Given the description of an element on the screen output the (x, y) to click on. 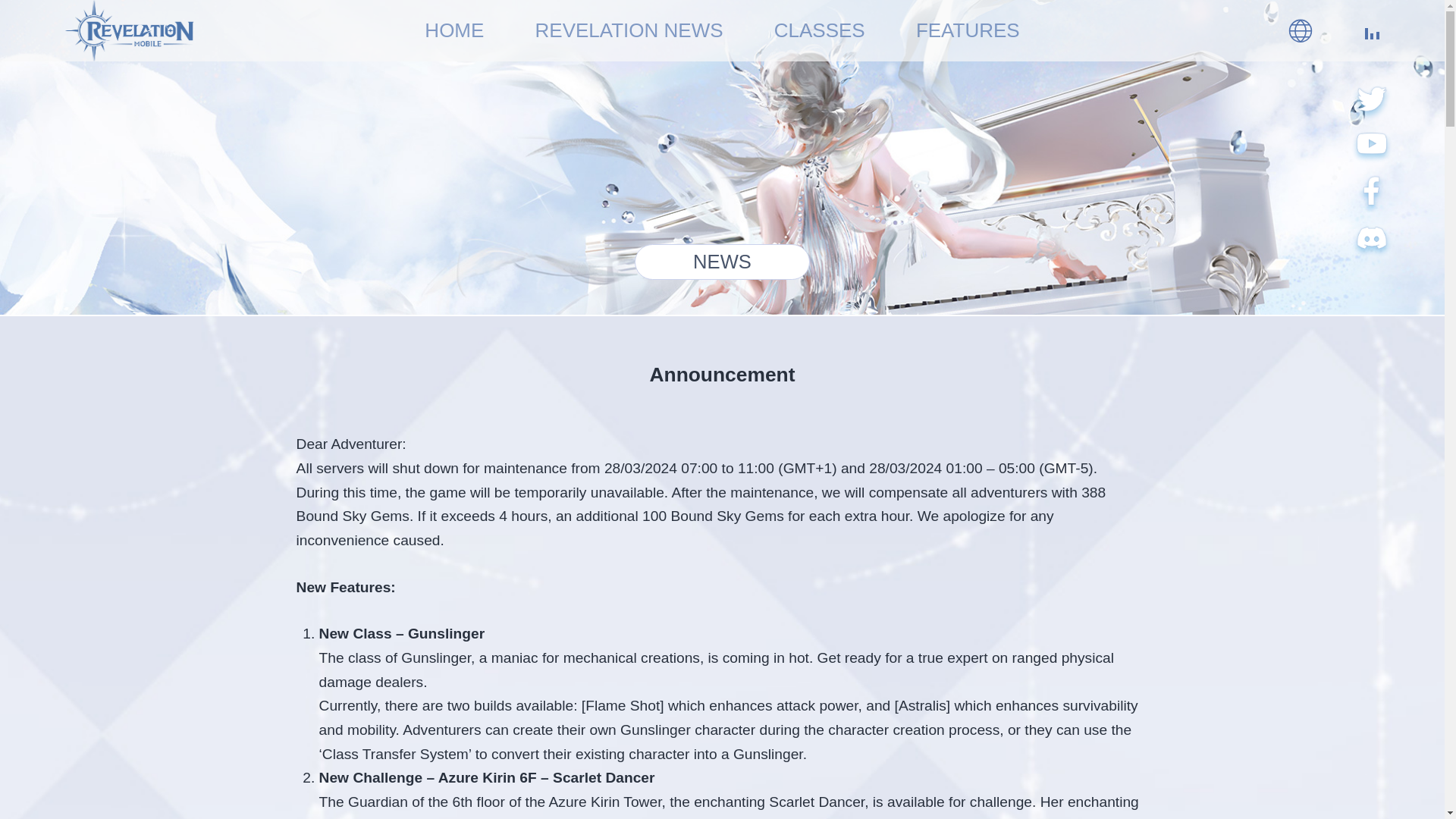
FEATURES (967, 29)
HOME (454, 29)
REVELATION NEWS (629, 29)
CLASSES (819, 29)
NEWS (721, 262)
